Given the description of an element on the screen output the (x, y) to click on. 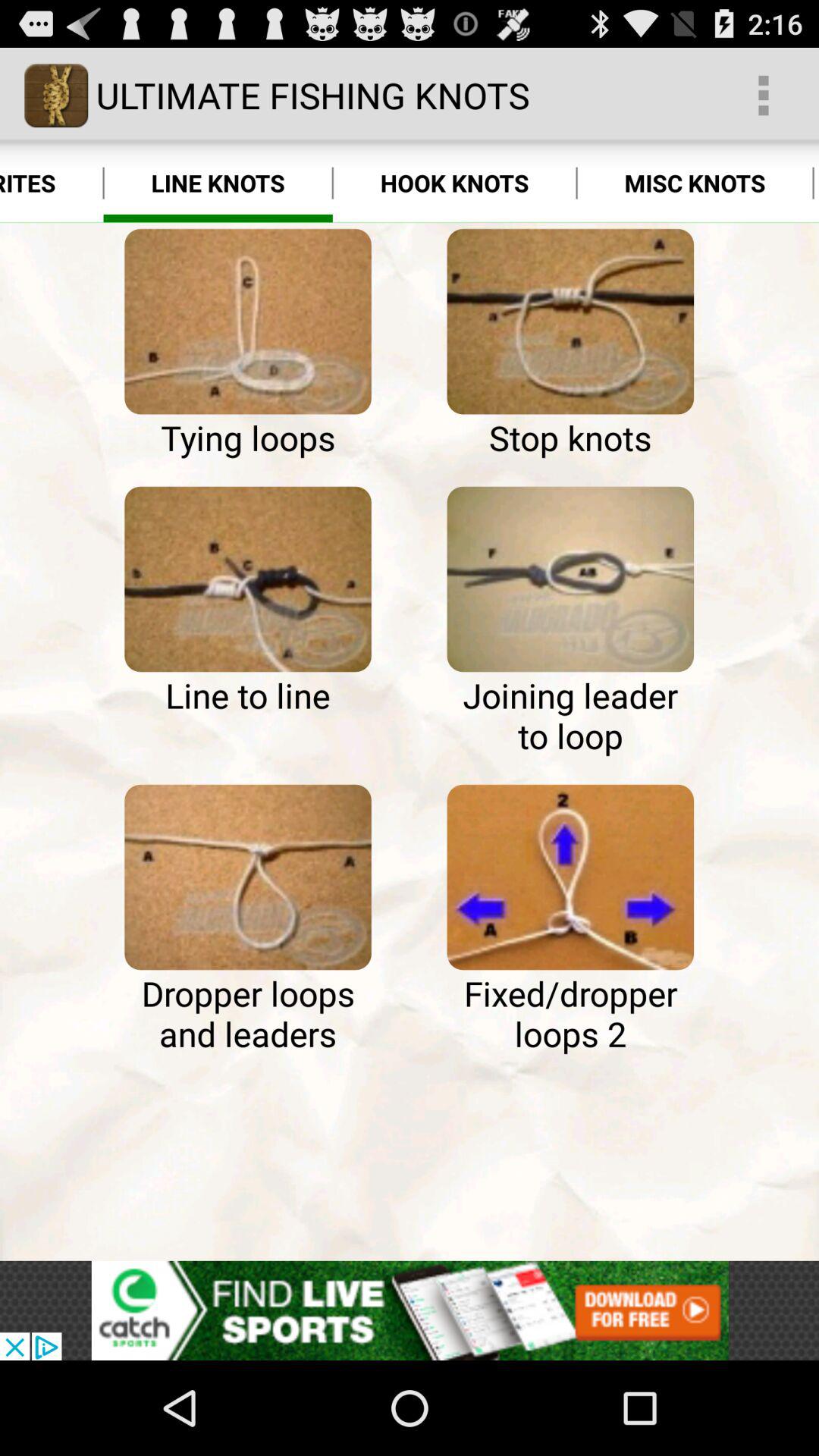
choose stop knots (570, 321)
